Given the description of an element on the screen output the (x, y) to click on. 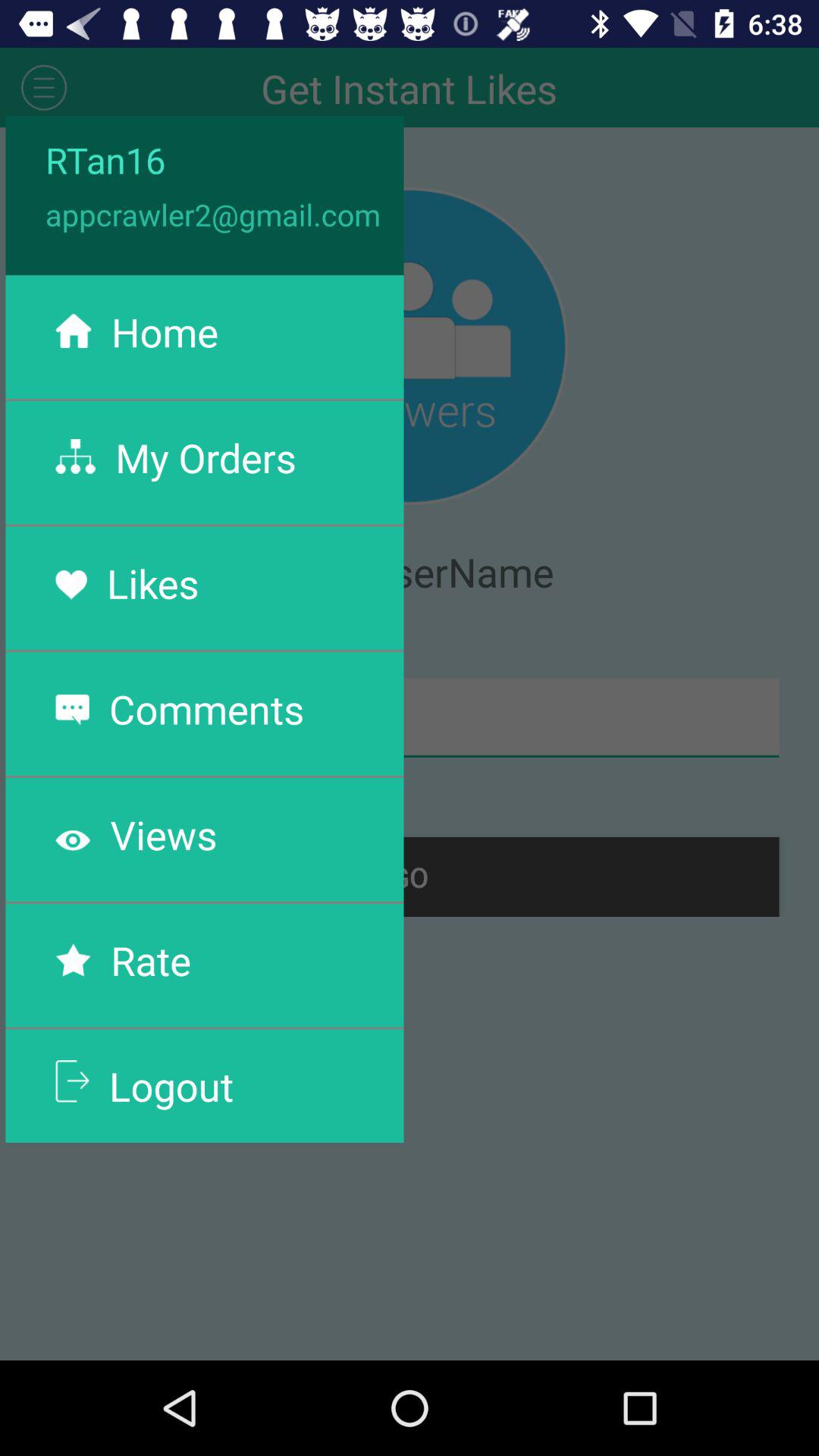
scroll until likes item (152, 582)
